Given the description of an element on the screen output the (x, y) to click on. 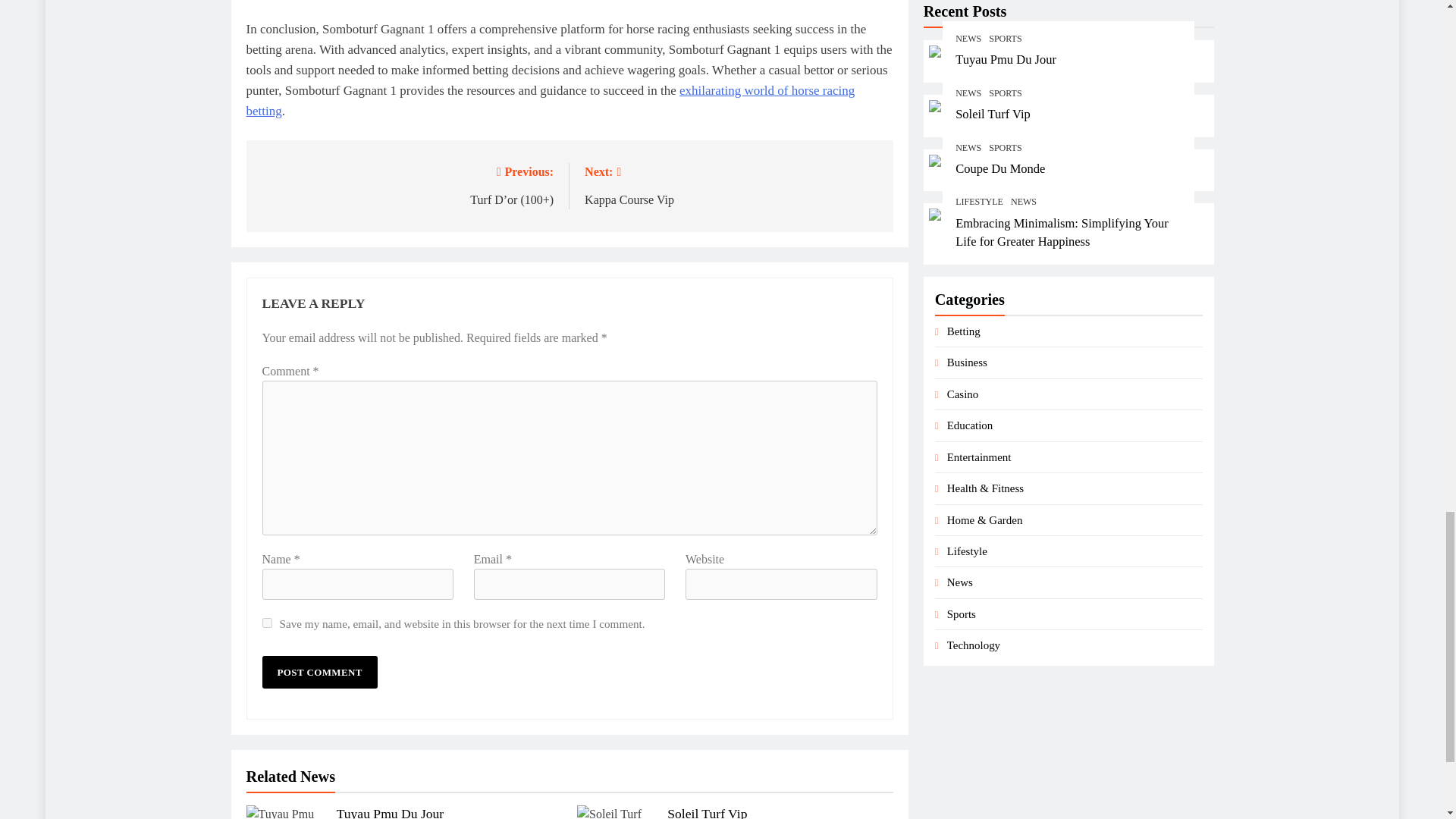
Post Comment (319, 672)
yes (267, 623)
